Given the description of an element on the screen output the (x, y) to click on. 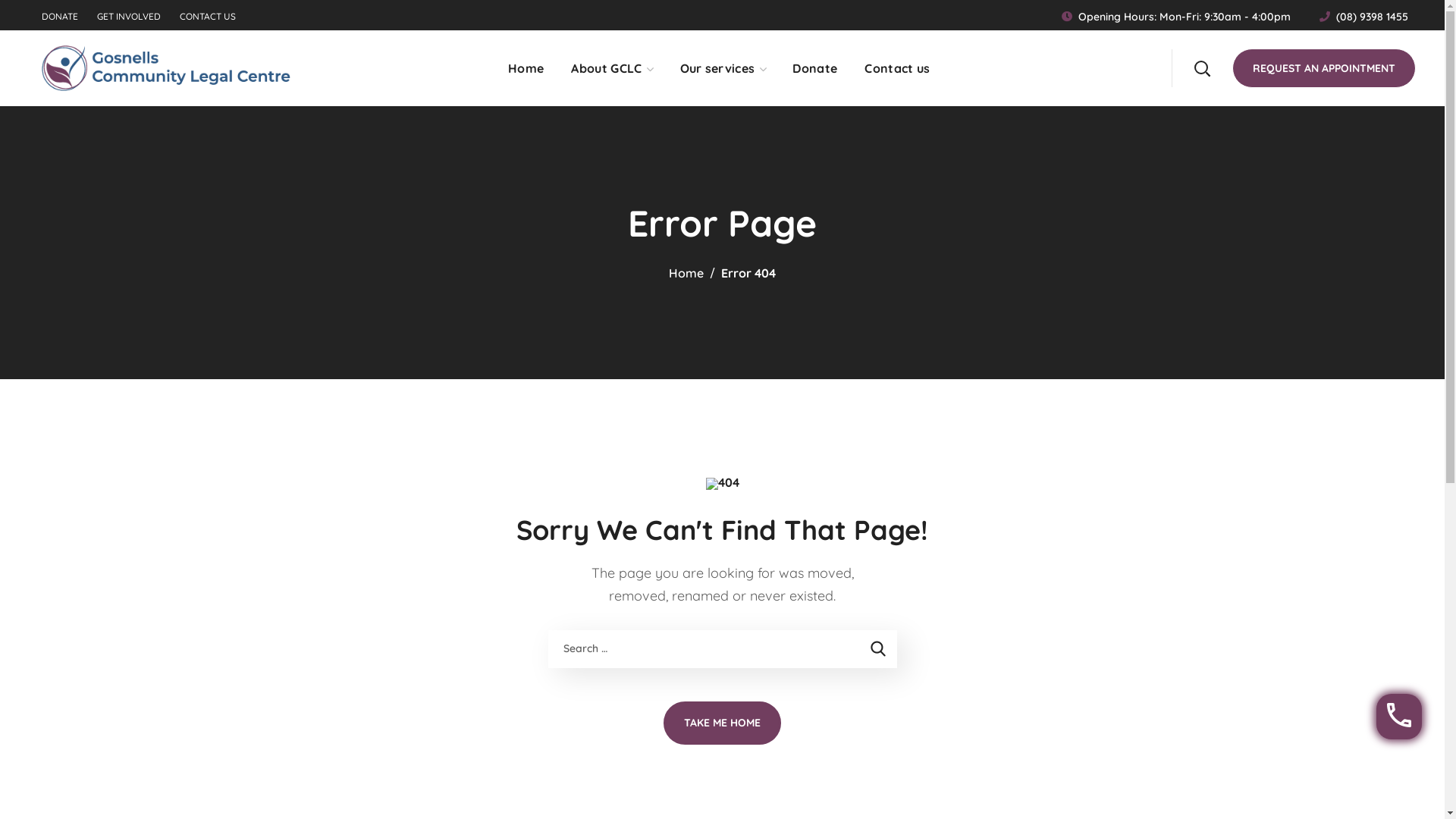
Donate Element type: text (814, 68)
CONTACT US Element type: text (207, 15)
Search Element type: text (1162, 144)
Our services Element type: text (722, 68)
CALL CREATED WITH SKETCH. Element type: text (1398, 716)
Home Element type: text (525, 68)
DONATE Element type: text (59, 15)
Search Element type: text (877, 649)
Contact us Element type: text (896, 68)
TAKE ME HOME Element type: text (722, 722)
Home Element type: text (685, 272)
Search Element type: text (1162, 37)
REQUEST AN APPOINTMENT Element type: text (1323, 67)
GET INVOLVED Element type: text (128, 15)
About GCLC Element type: text (611, 68)
